Given the description of an element on the screen output the (x, y) to click on. 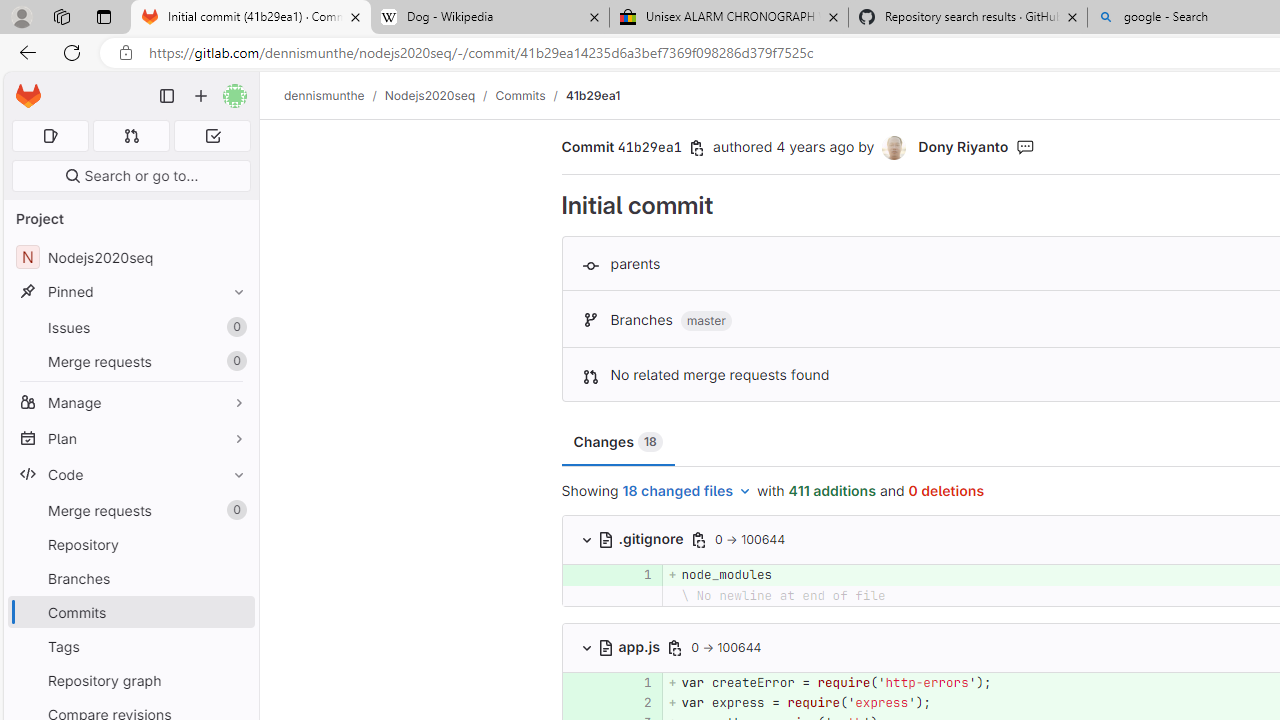
Pinned (130, 291)
Dog - Wikipedia (490, 17)
Dony Riyanto (962, 146)
Issues 0 (130, 327)
Merge requests 0 (131, 136)
.gitignore  (642, 538)
Back (24, 52)
Branches (130, 578)
Create new... (201, 96)
Tab actions menu (104, 16)
Homepage (27, 96)
app.js  (630, 646)
View site information (125, 53)
41b29ea1 (592, 95)
